Given the description of an element on the screen output the (x, y) to click on. 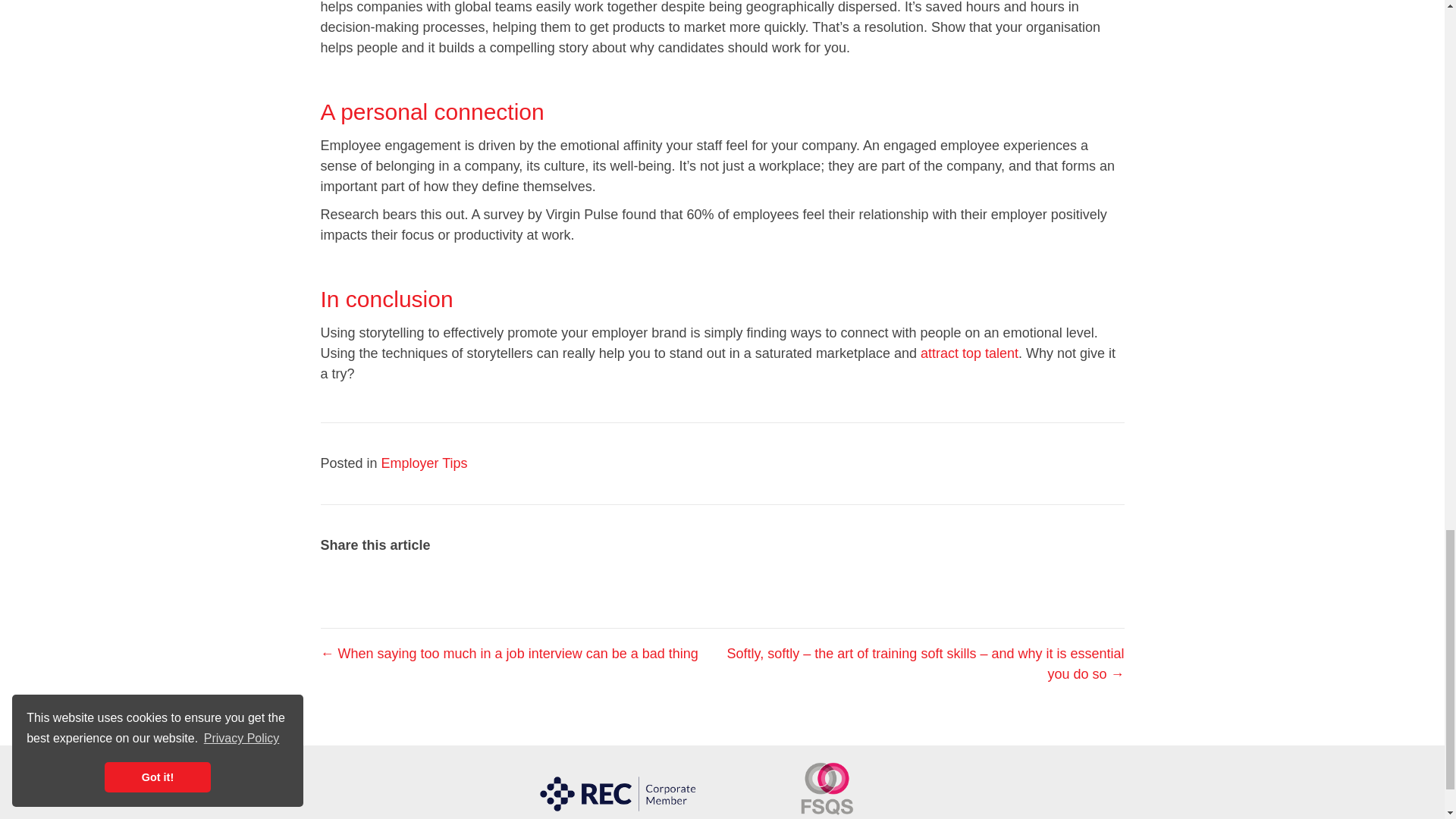
Employer Tips (424, 462)
fsqs (825, 789)
attract top talent (968, 353)
